Given the description of an element on the screen output the (x, y) to click on. 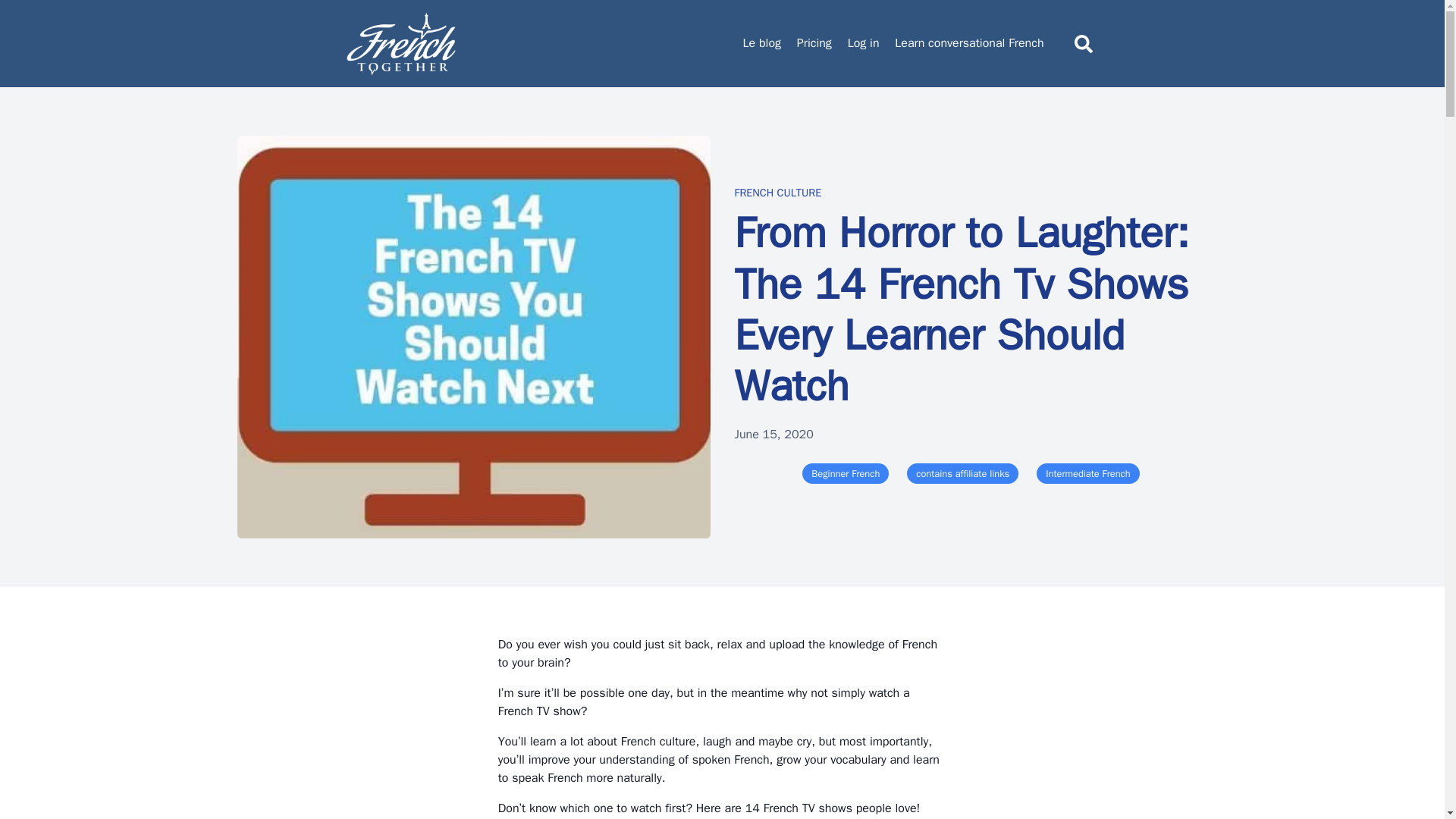
Learn conversational French (968, 43)
Le blog (761, 43)
Beginner French (845, 473)
contains affiliate links (962, 473)
FRENCH CULTURE (777, 192)
Pricing (814, 43)
French culture (658, 741)
learn to speak French (718, 768)
Log in (863, 43)
grow your vocabulary (830, 759)
